Given the description of an element on the screen output the (x, y) to click on. 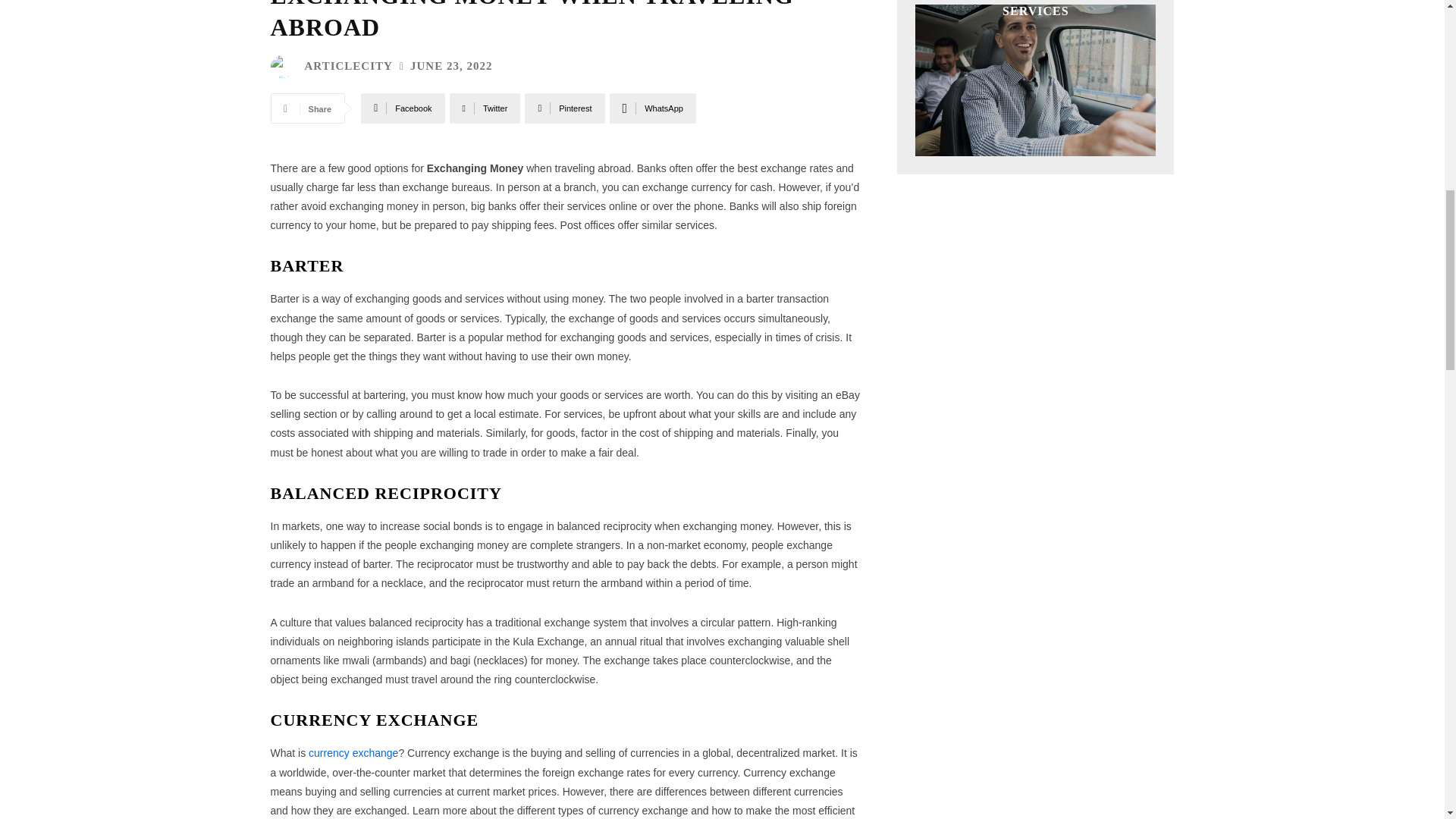
WhatsApp (652, 108)
Pinterest (564, 108)
Articlecity (284, 66)
Twitter (485, 108)
Facebook (402, 108)
